Given the description of an element on the screen output the (x, y) to click on. 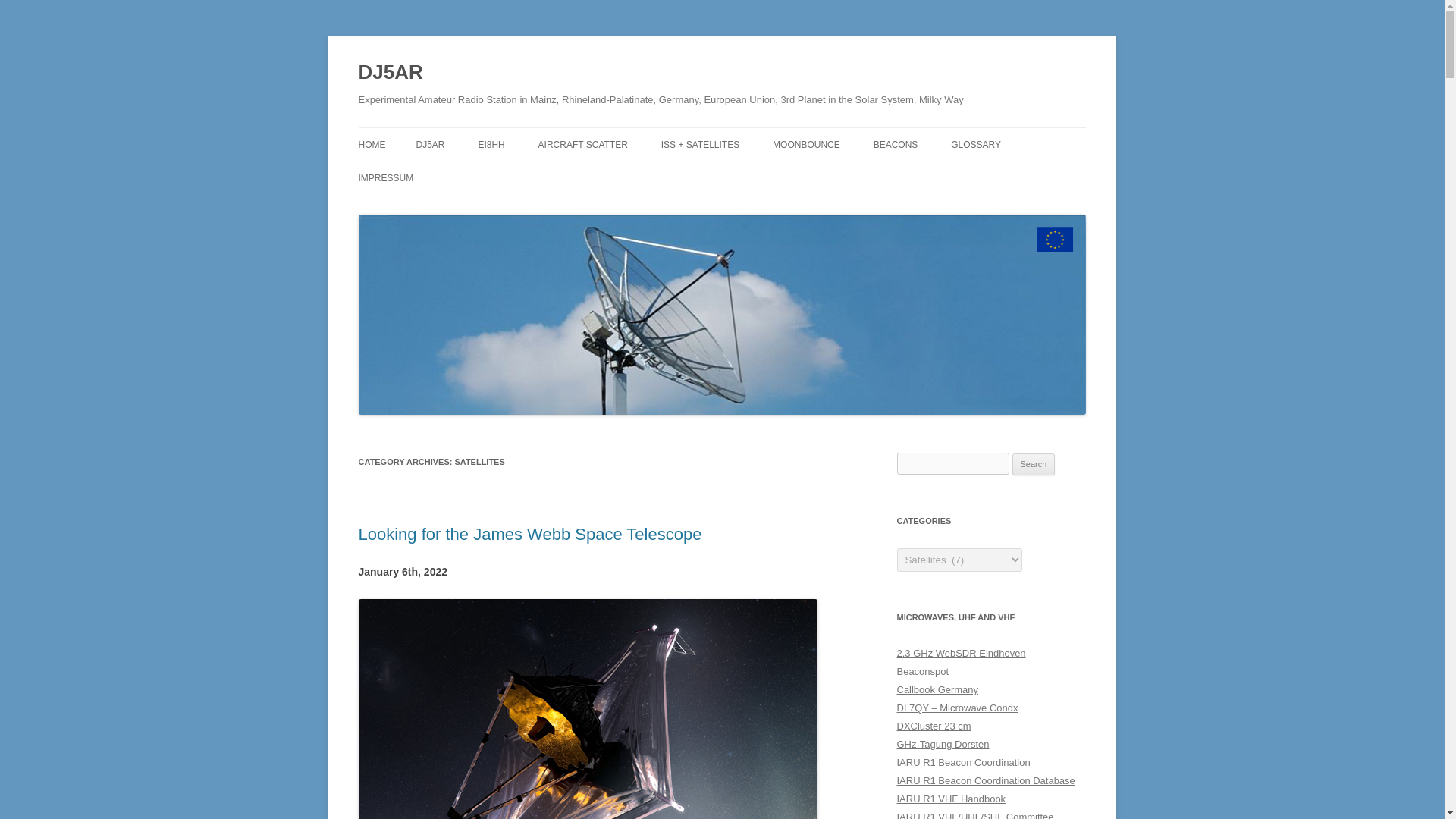
ISS BOUNCE CHRONOLOGY (736, 176)
CONTACT (433, 210)
DJ5AR (390, 72)
INITIALS ON 2320 MHZ EME (848, 176)
Looking for the James Webb Space Telescope (529, 533)
DJ5AR (390, 72)
BEACONS (895, 144)
ABOUT DJ5AR (490, 176)
AIRCRAFT SCATTER (582, 144)
GLOSSARY (975, 144)
IMPRESSUM (385, 177)
MOONBOUNCE (806, 144)
Search (1033, 464)
